Given the description of an element on the screen output the (x, y) to click on. 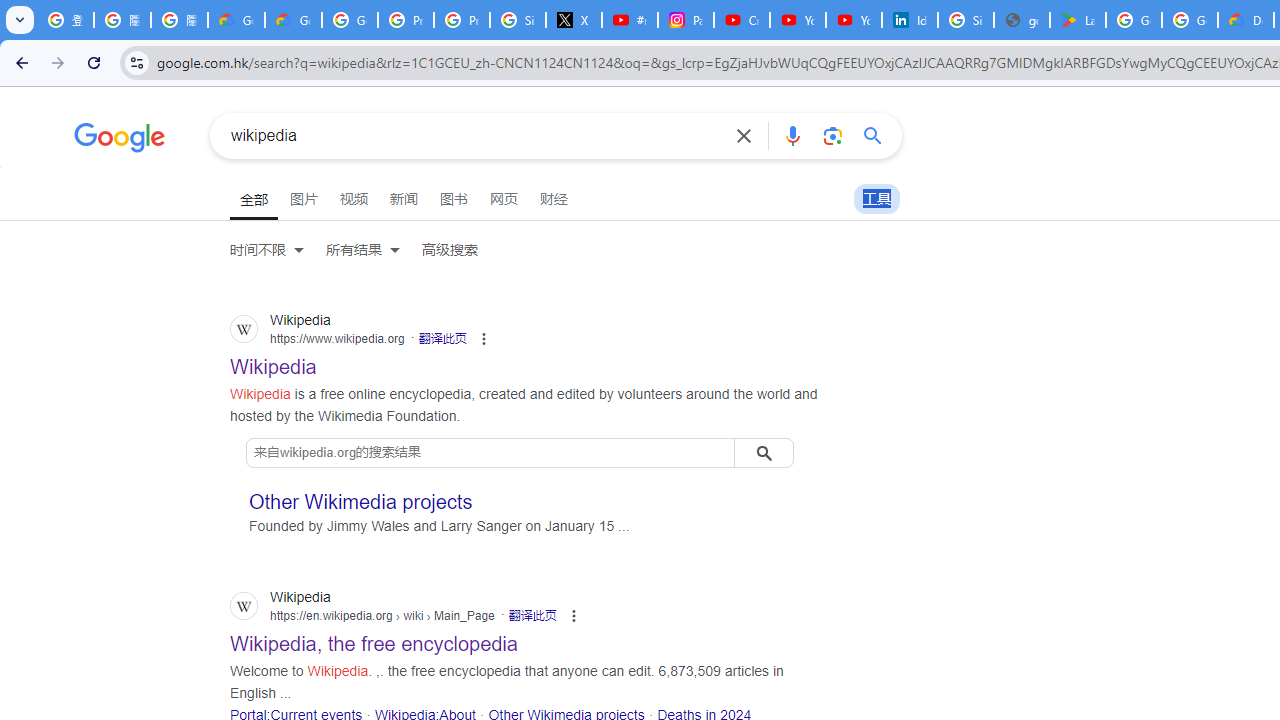
YouTube Culture & Trends - YouTube Top 10, 2021 (853, 20)
google_privacy_policy_en.pdf (1021, 20)
Sign in - Google Accounts (518, 20)
